Given the description of an element on the screen output the (x, y) to click on. 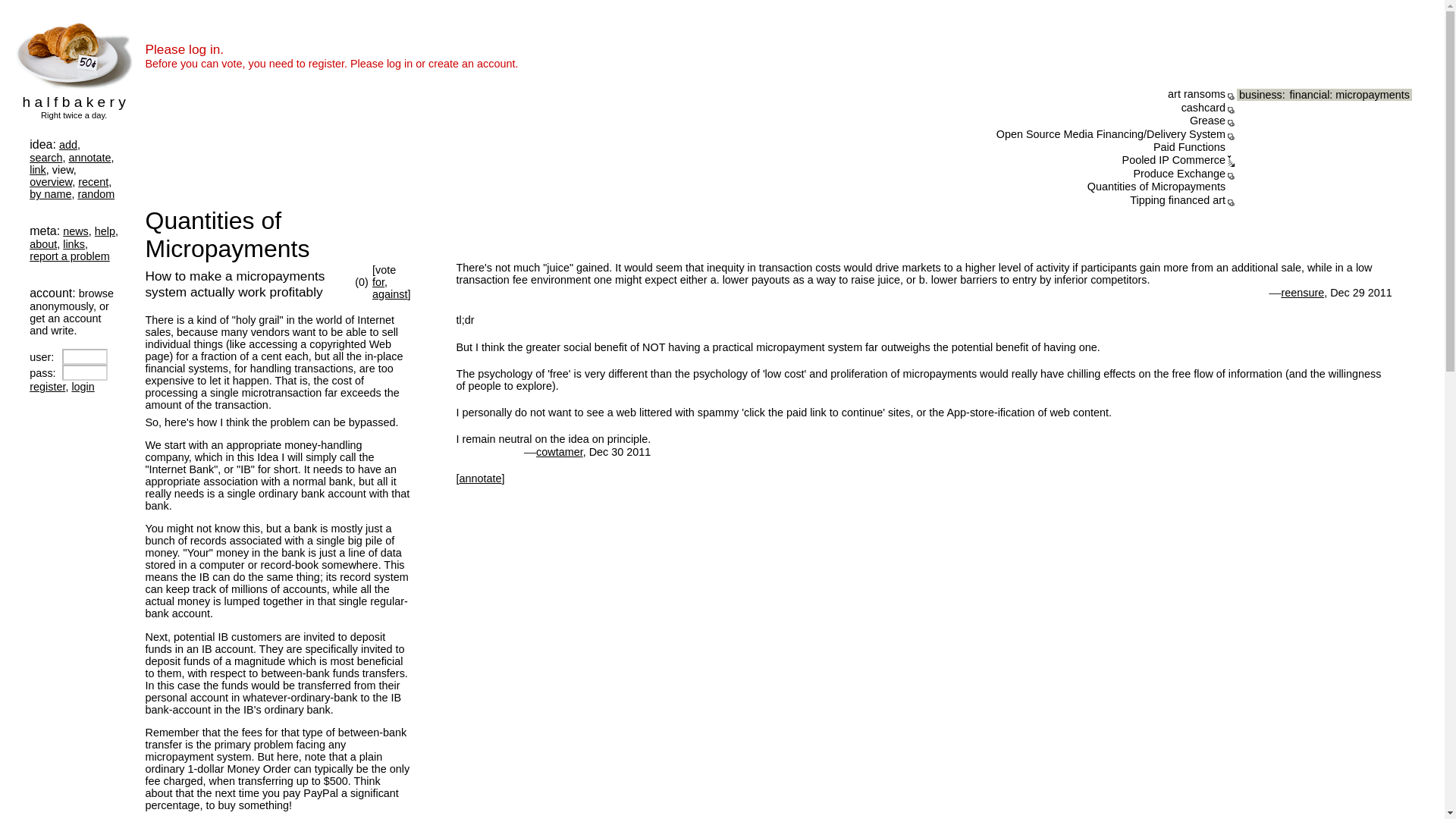
help (104, 231)
overview (50, 182)
Tipping financed art (1177, 200)
art ransoms (1196, 93)
Paid Functions (1189, 146)
Produce Exchange (1178, 173)
Grease (1207, 120)
link (37, 169)
register (47, 386)
search (45, 157)
